Given the description of an element on the screen output the (x, y) to click on. 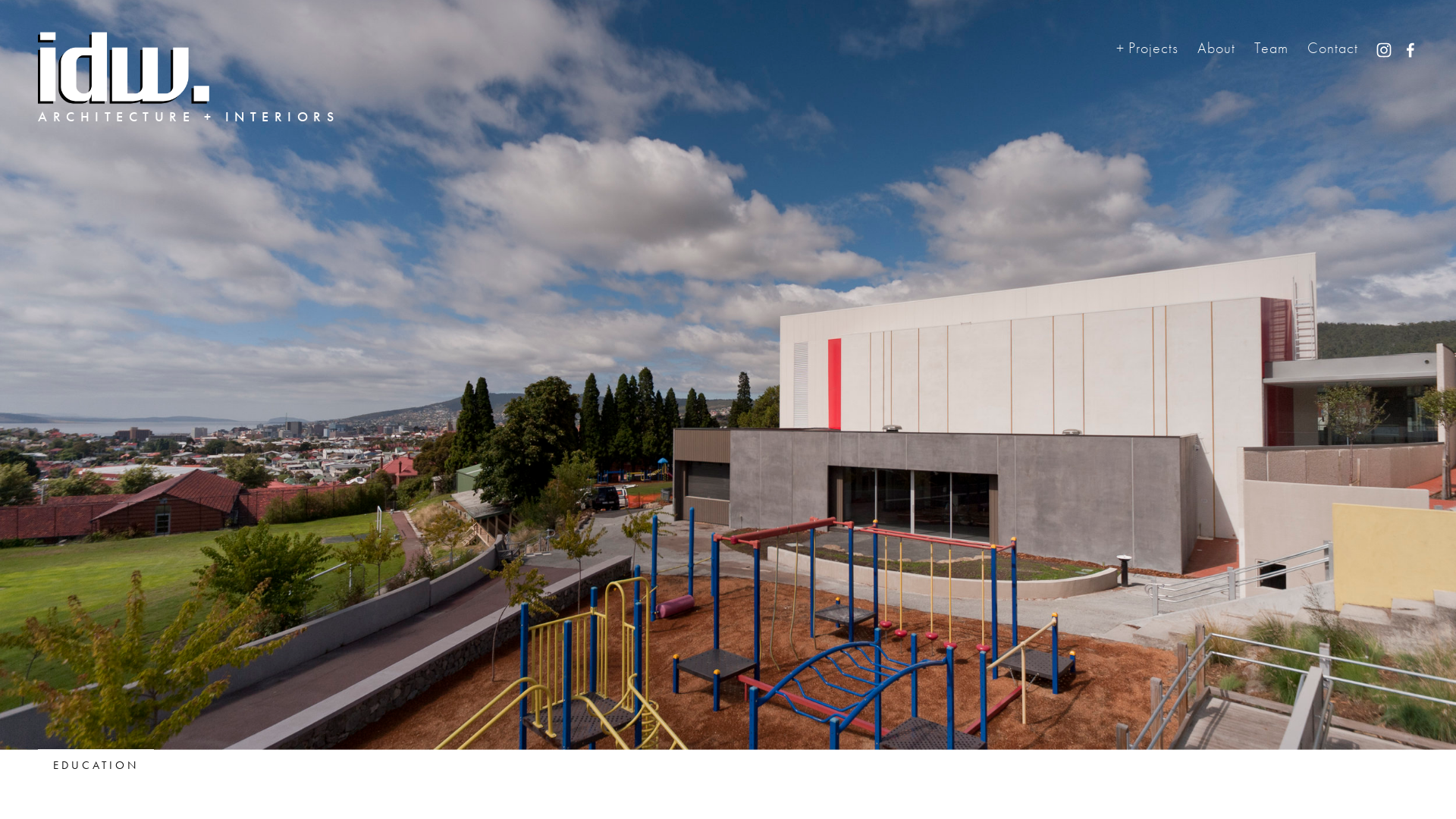
EDUCATION Element type: text (95, 765)
Team Element type: text (1271, 47)
About Element type: text (1216, 47)
Projects Element type: text (1147, 47)
Contact Element type: text (1332, 47)
